Given the description of an element on the screen output the (x, y) to click on. 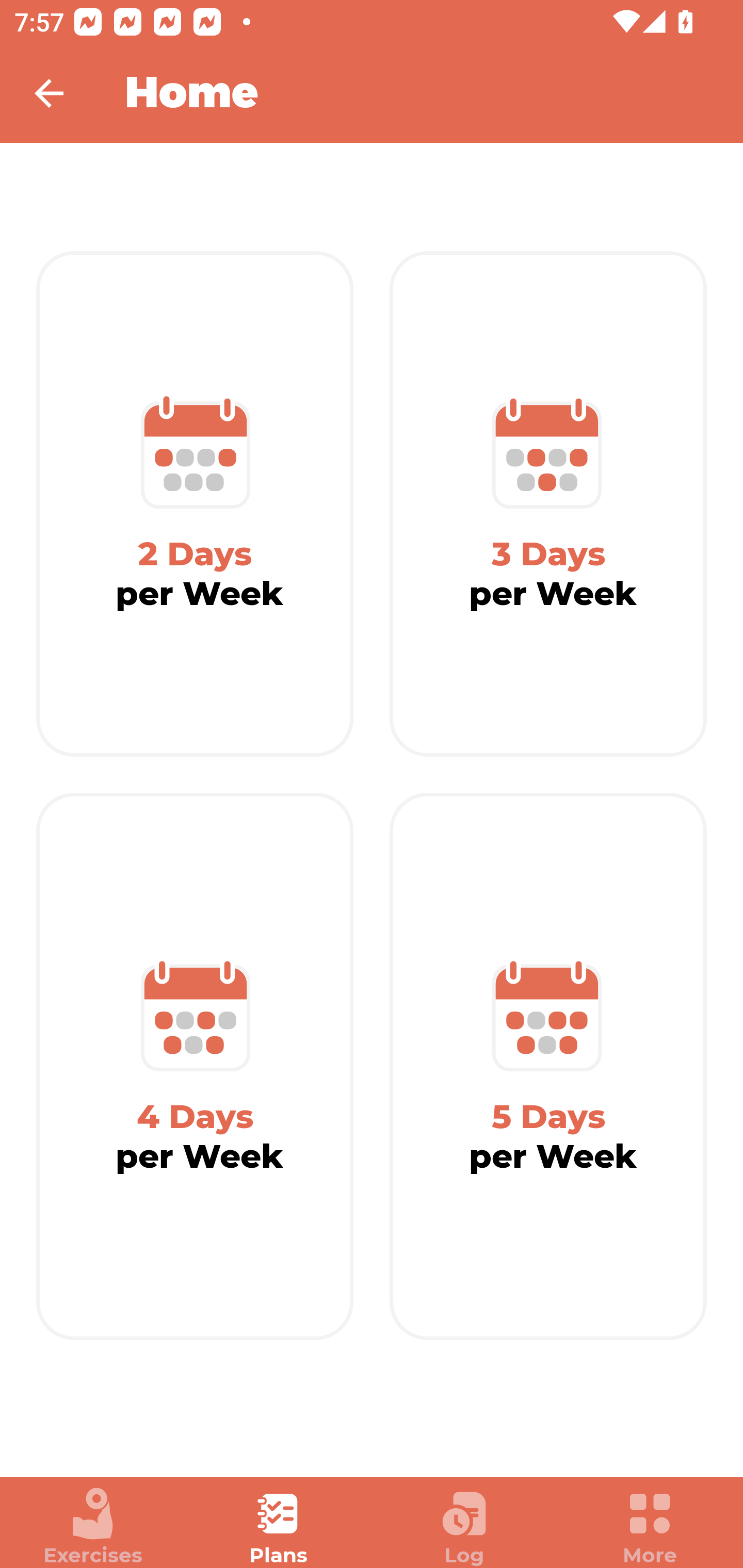
Back (62, 92)
2 Days
 per Week (194, 503)
3 Days
 per Week (547, 503)
4 Days
 per Week (194, 1066)
5 Days
 per Week (547, 1066)
Exercises (92, 1527)
Plans (278, 1527)
Log (464, 1527)
More (650, 1527)
